Given the description of an element on the screen output the (x, y) to click on. 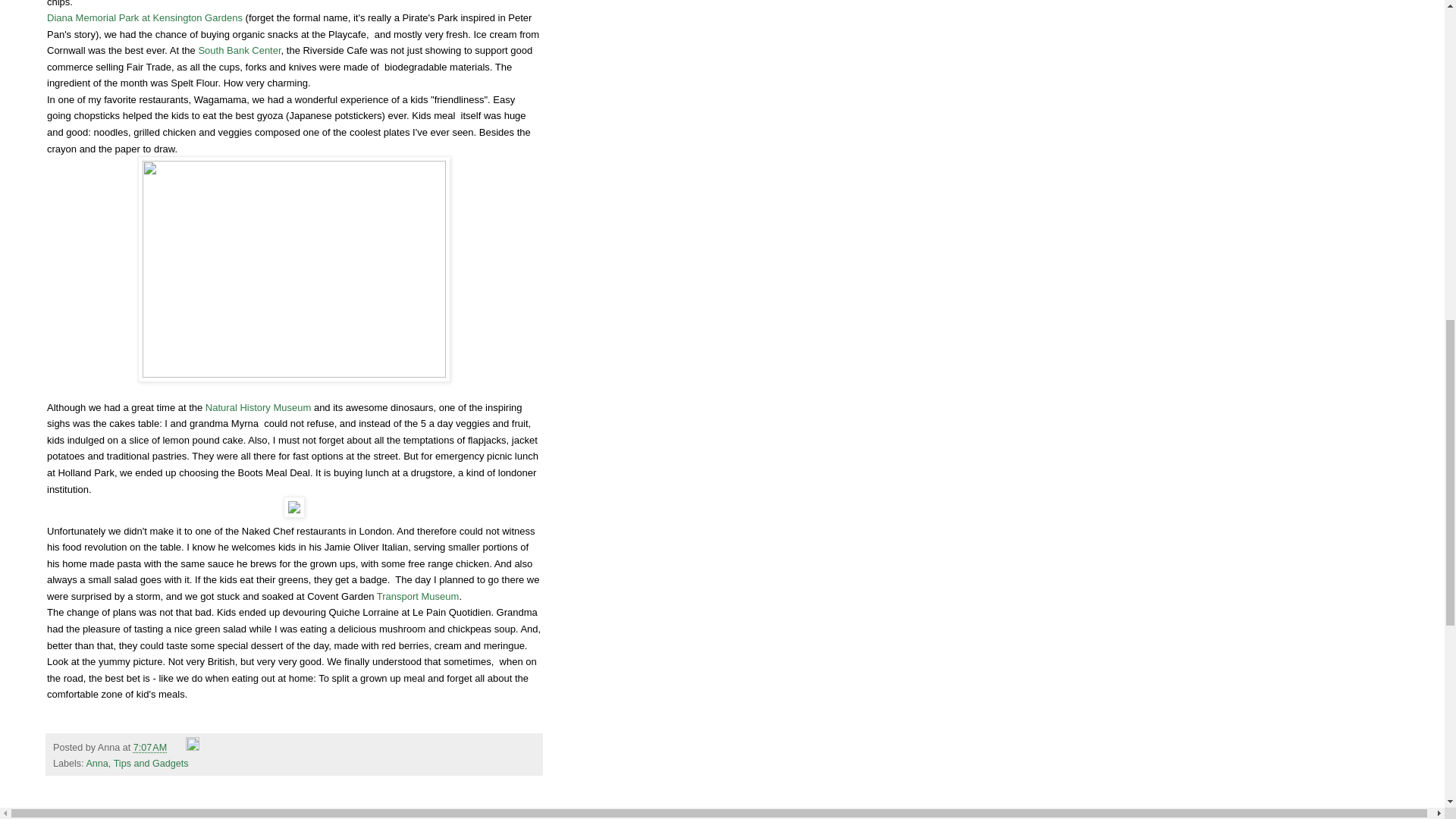
Tips and Gadgets (151, 763)
Natural History Museum (258, 407)
permanent link (150, 747)
Transport Museum (418, 595)
Email Post (178, 747)
Diana Memorial Park at Kensington Gardens (146, 17)
South Bank Center (239, 50)
Edit Post (192, 747)
Anna (96, 763)
